Given the description of an element on the screen output the (x, y) to click on. 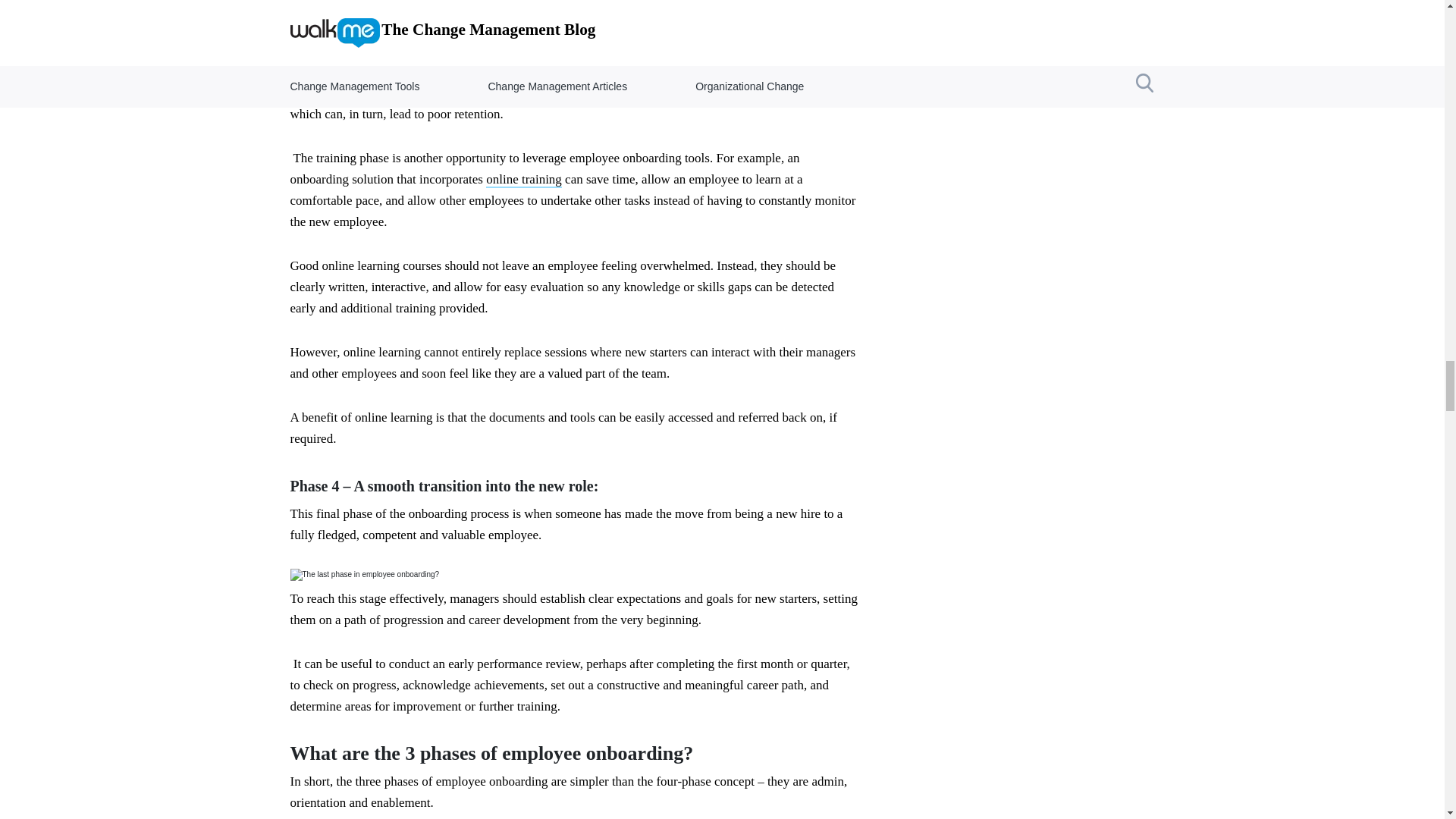
online training (524, 179)
